Given the description of an element on the screen output the (x, y) to click on. 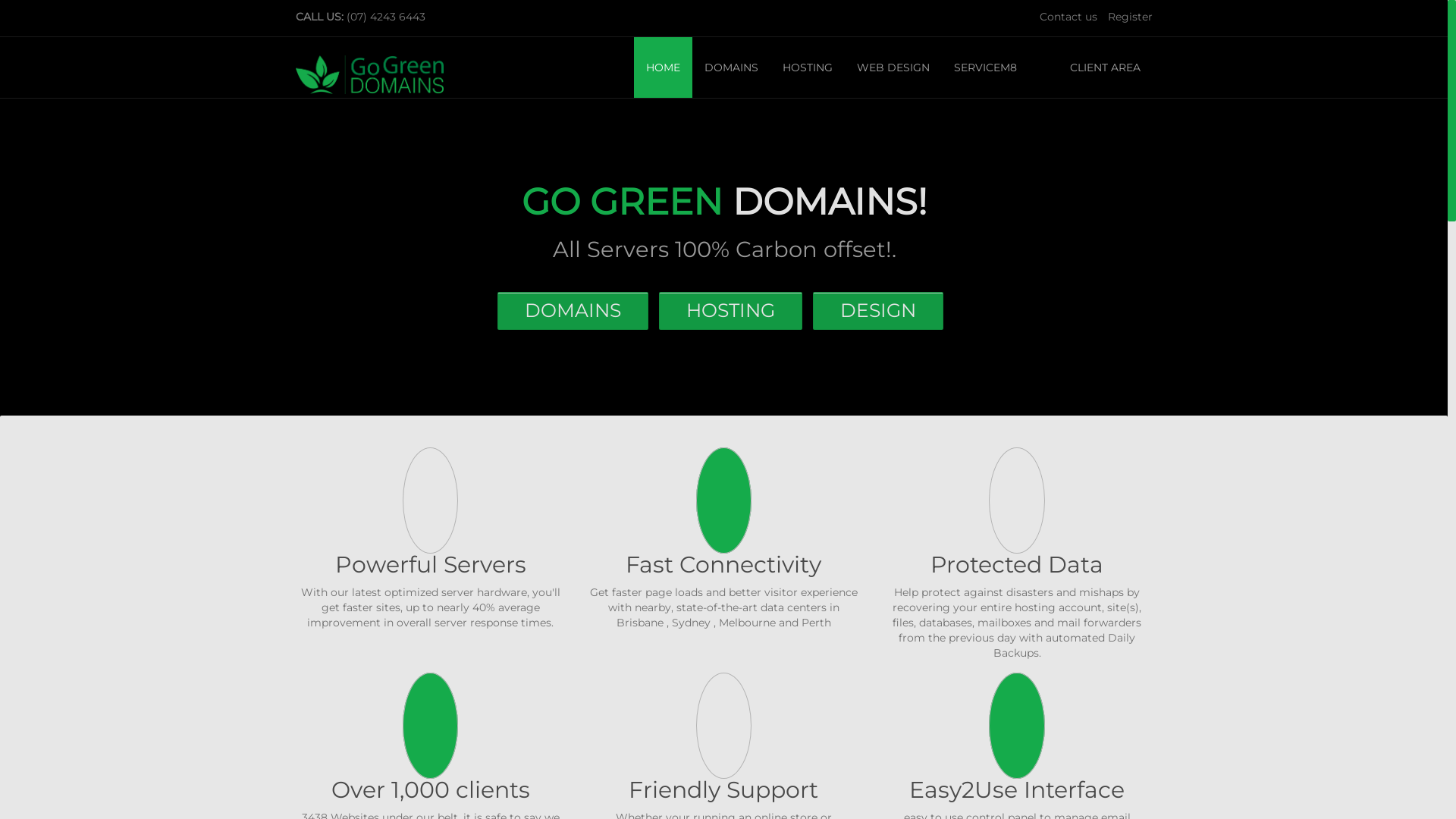
Register Element type: text (1129, 16)
  CLIENT AREA Element type: text (1101, 67)
HOSTING Element type: text (729, 310)
WEB DESIGN Element type: text (892, 67)
DOMAINS Element type: text (577, 309)
DESIGN Element type: text (877, 310)
HOME Element type: text (662, 67)
DOMAINS Element type: text (572, 310)
Contact us Element type: text (1067, 16)
HOSTING Element type: text (807, 67)
DESIGN Element type: text (881, 309)
HOSTING Element type: text (735, 309)
SERVICEM8 Element type: text (985, 67)
DOMAINS Element type: text (730, 67)
